Given the description of an element on the screen output the (x, y) to click on. 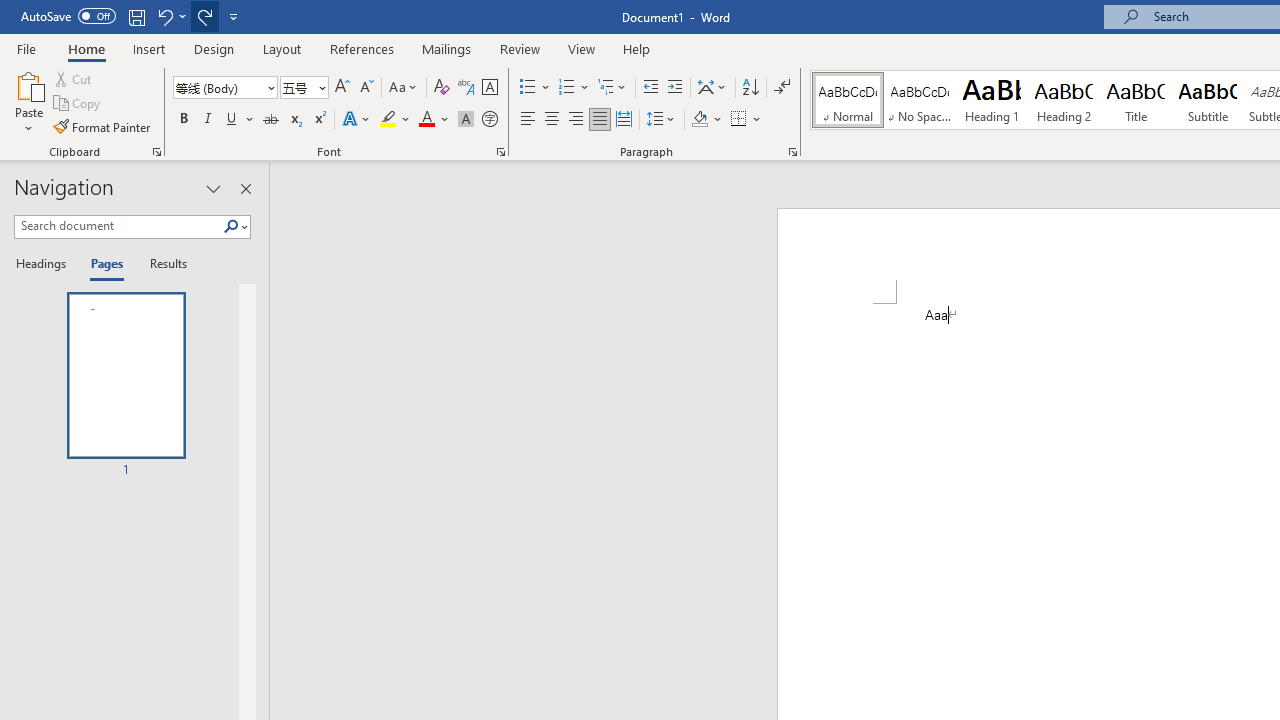
Task Pane Options (214, 188)
Quick Access Toolbar (131, 16)
References (362, 48)
Align Left (527, 119)
Font... (500, 151)
Align Right (575, 119)
Decrease Indent (650, 87)
AutoSave (68, 16)
Grow Font (342, 87)
Copy (78, 103)
Increase Indent (675, 87)
Enclose Characters... (489, 119)
Underline (232, 119)
Subtitle (1208, 100)
